Given the description of an element on the screen output the (x, y) to click on. 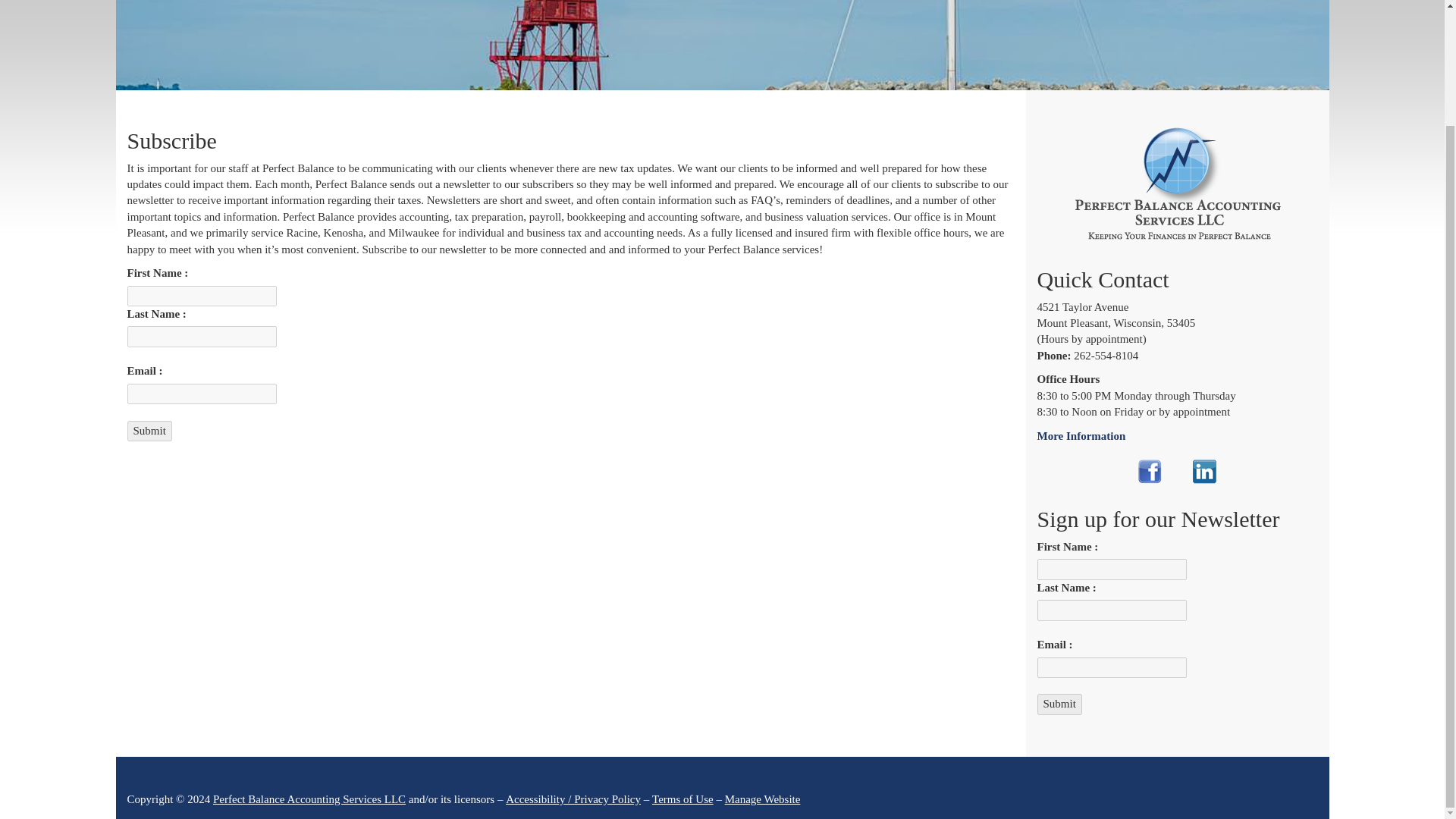
Submit (149, 430)
Submit (1058, 703)
